Given the description of an element on the screen output the (x, y) to click on. 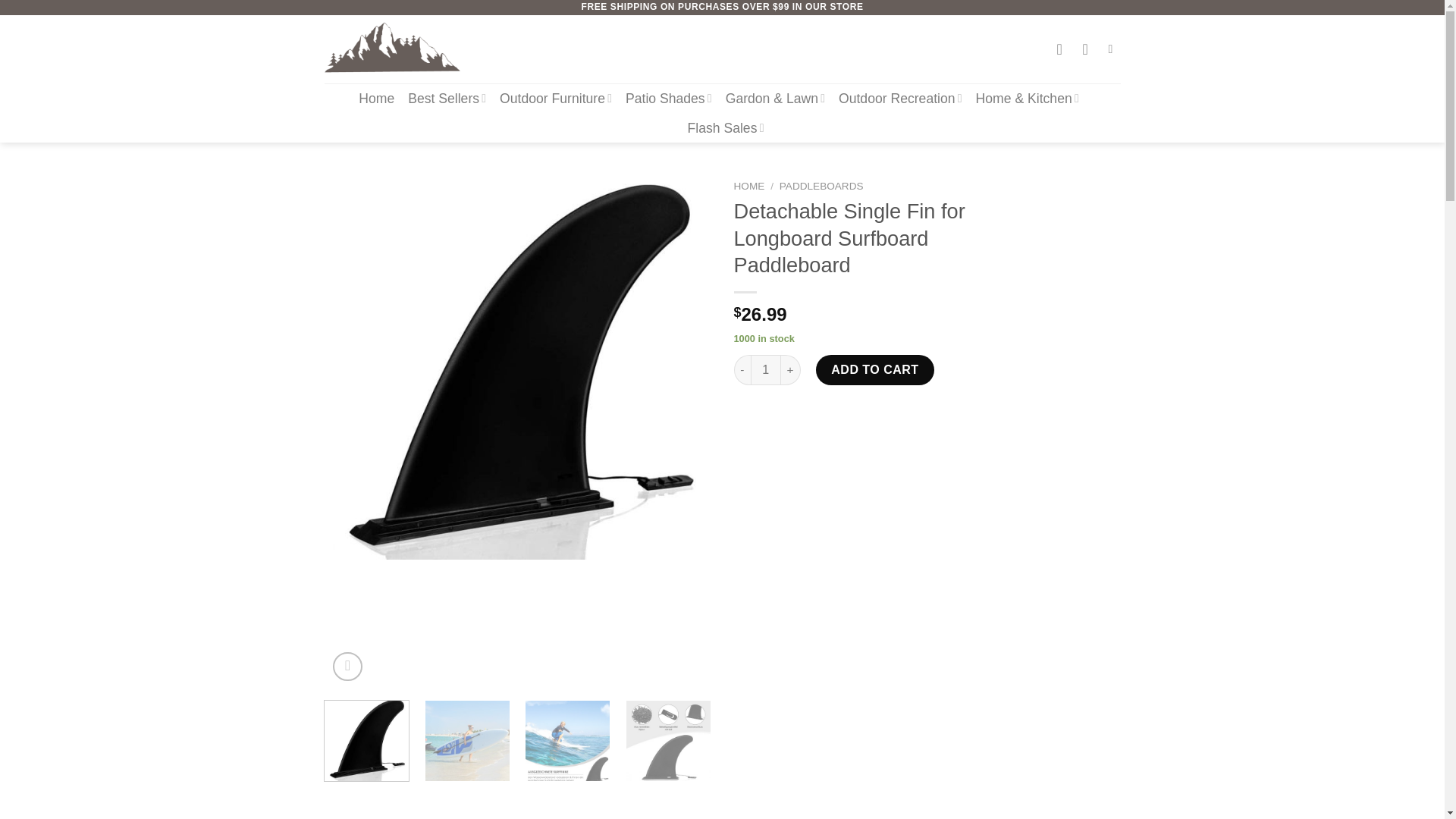
Home (376, 98)
Outdoor Recreation (900, 98)
Zoom (347, 666)
Best Sellers (446, 98)
Audubongroup (400, 49)
Outdoor Furniture (555, 98)
Qty (765, 369)
Patio Shades (668, 98)
Flash Sales (725, 127)
1 (765, 369)
